Given the description of an element on the screen output the (x, y) to click on. 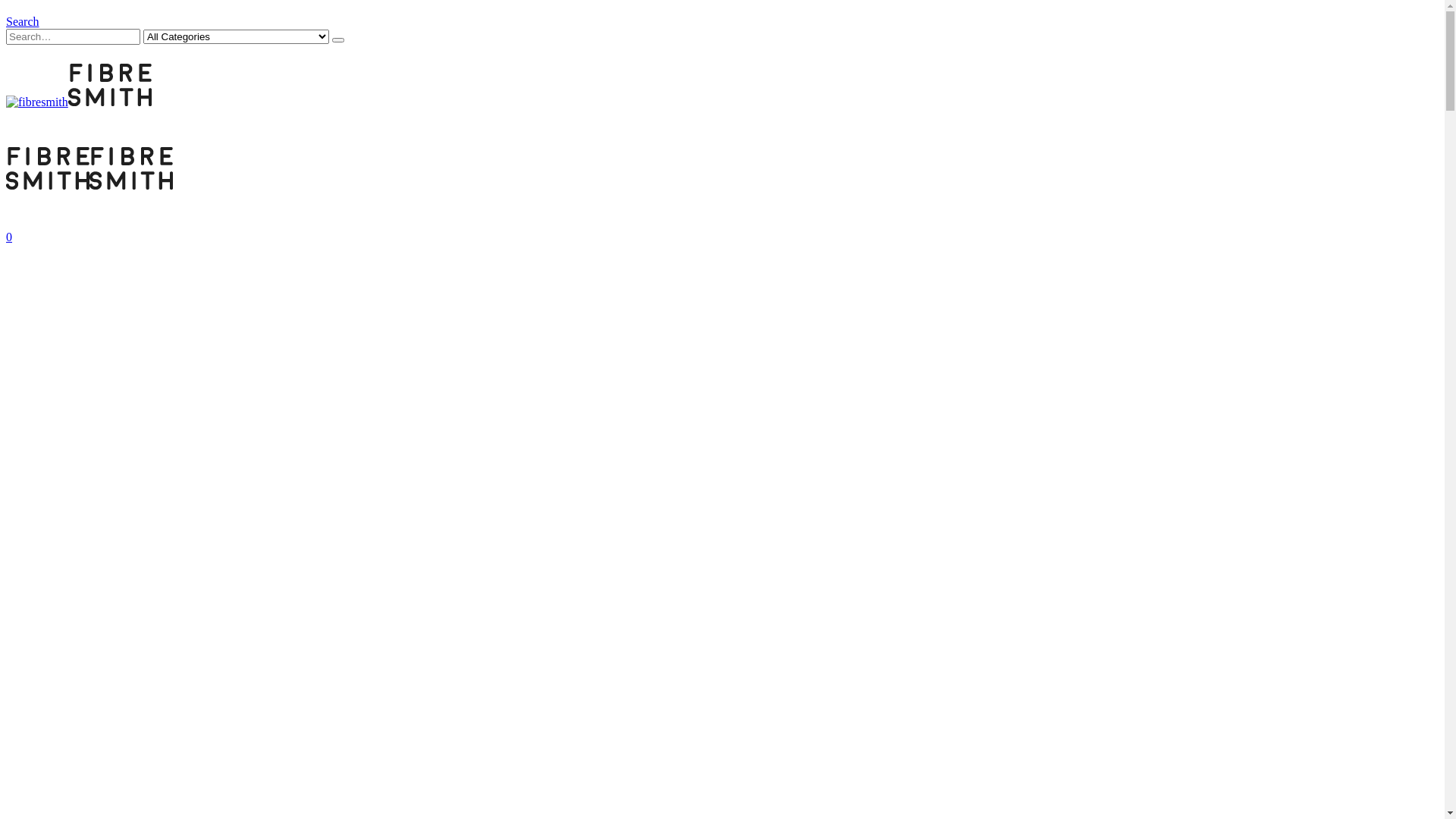
0 Element type: text (9, 236)
fibresmith - cloth & yarn Element type: hover (78, 101)
Search Element type: text (22, 21)
fibresmith - cloth & yarn Element type: hover (89, 184)
Search Element type: hover (338, 39)
